Given the description of an element on the screen output the (x, y) to click on. 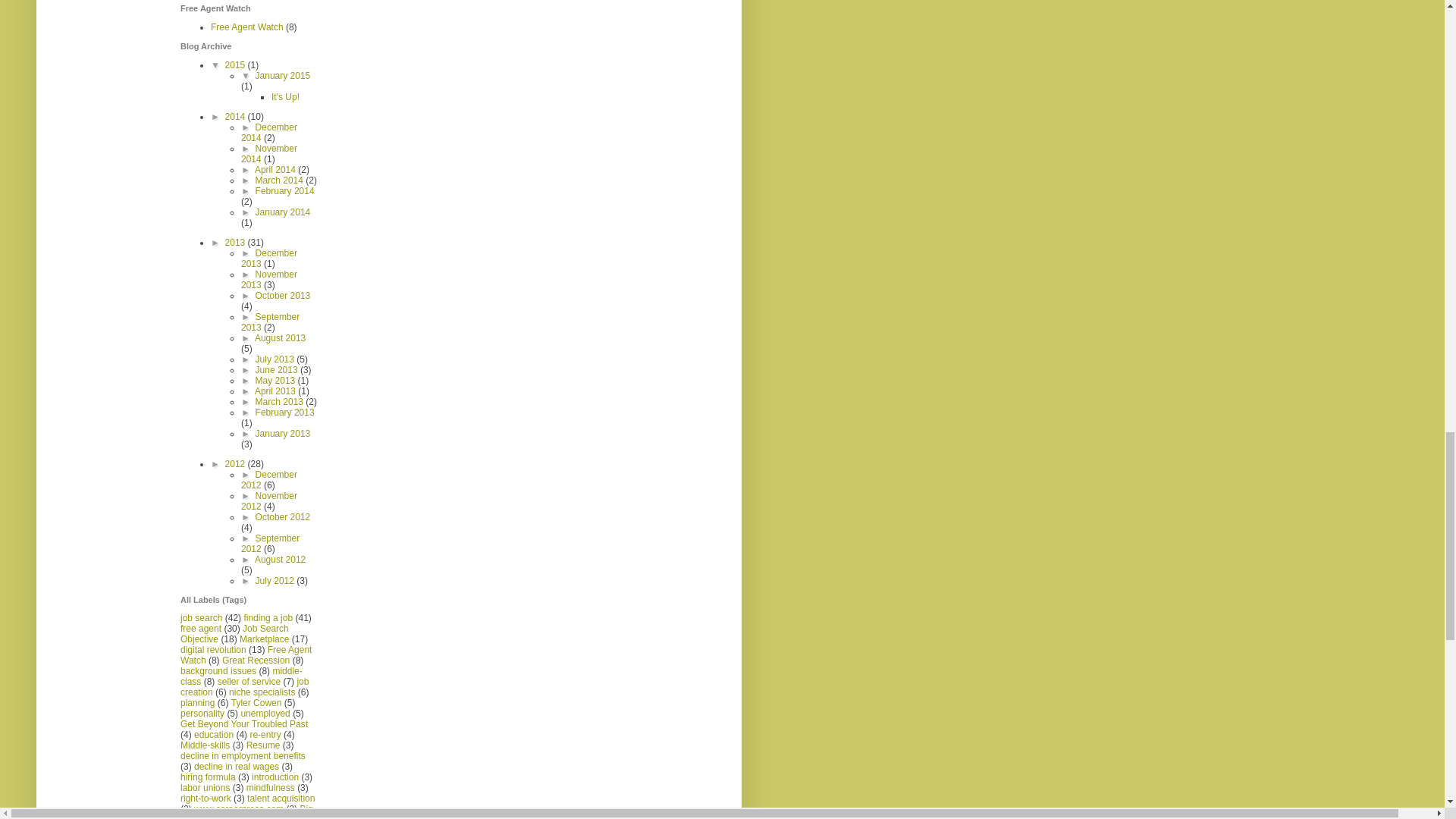
January 2015 (283, 75)
2015 (236, 64)
It's Up! (284, 96)
December 2014 (269, 132)
November 2014 (269, 153)
2014 (236, 116)
Free Agent Watch (247, 27)
